Given the description of an element on the screen output the (x, y) to click on. 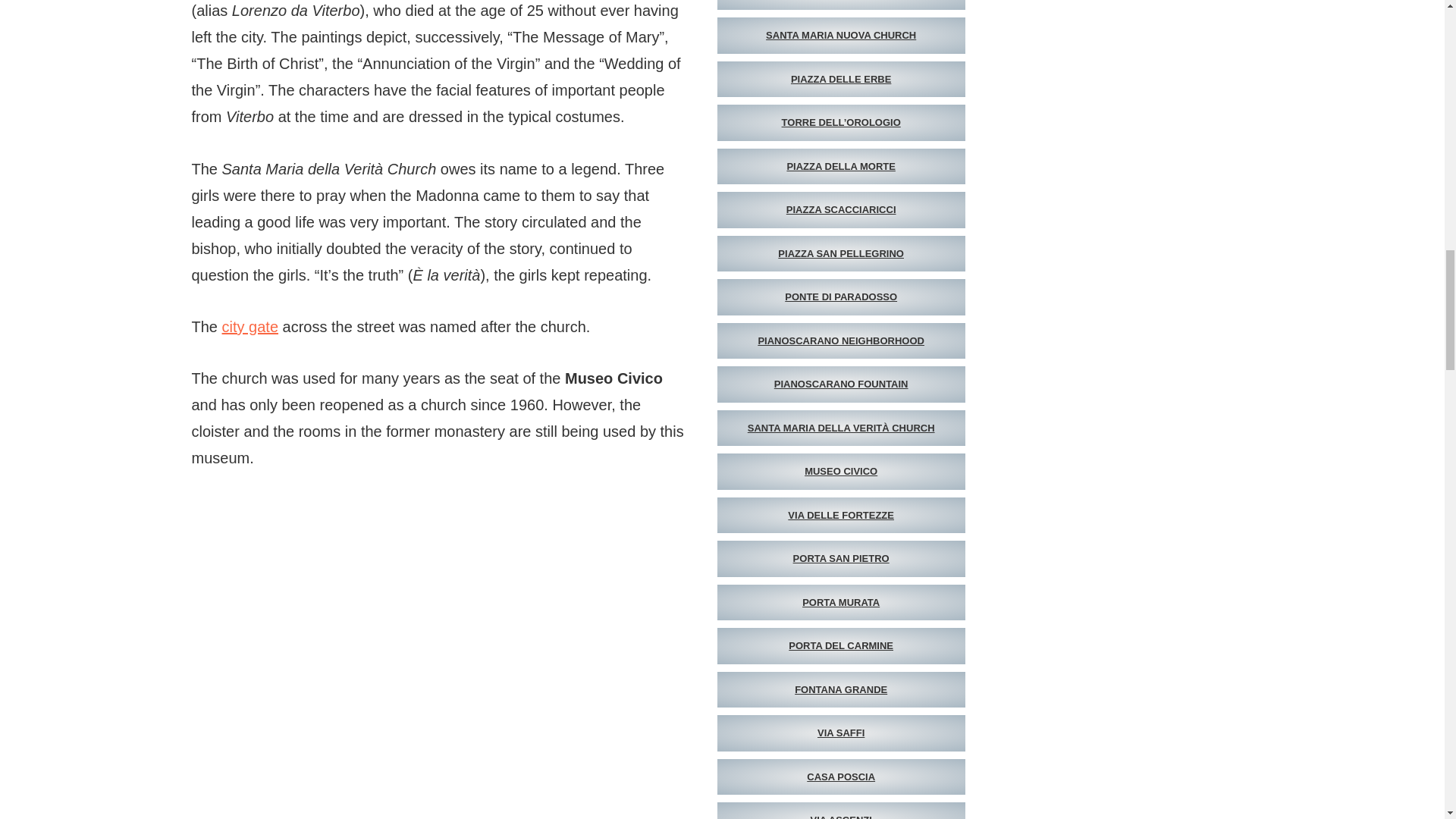
city gate (250, 326)
